Given the description of an element on the screen output the (x, y) to click on. 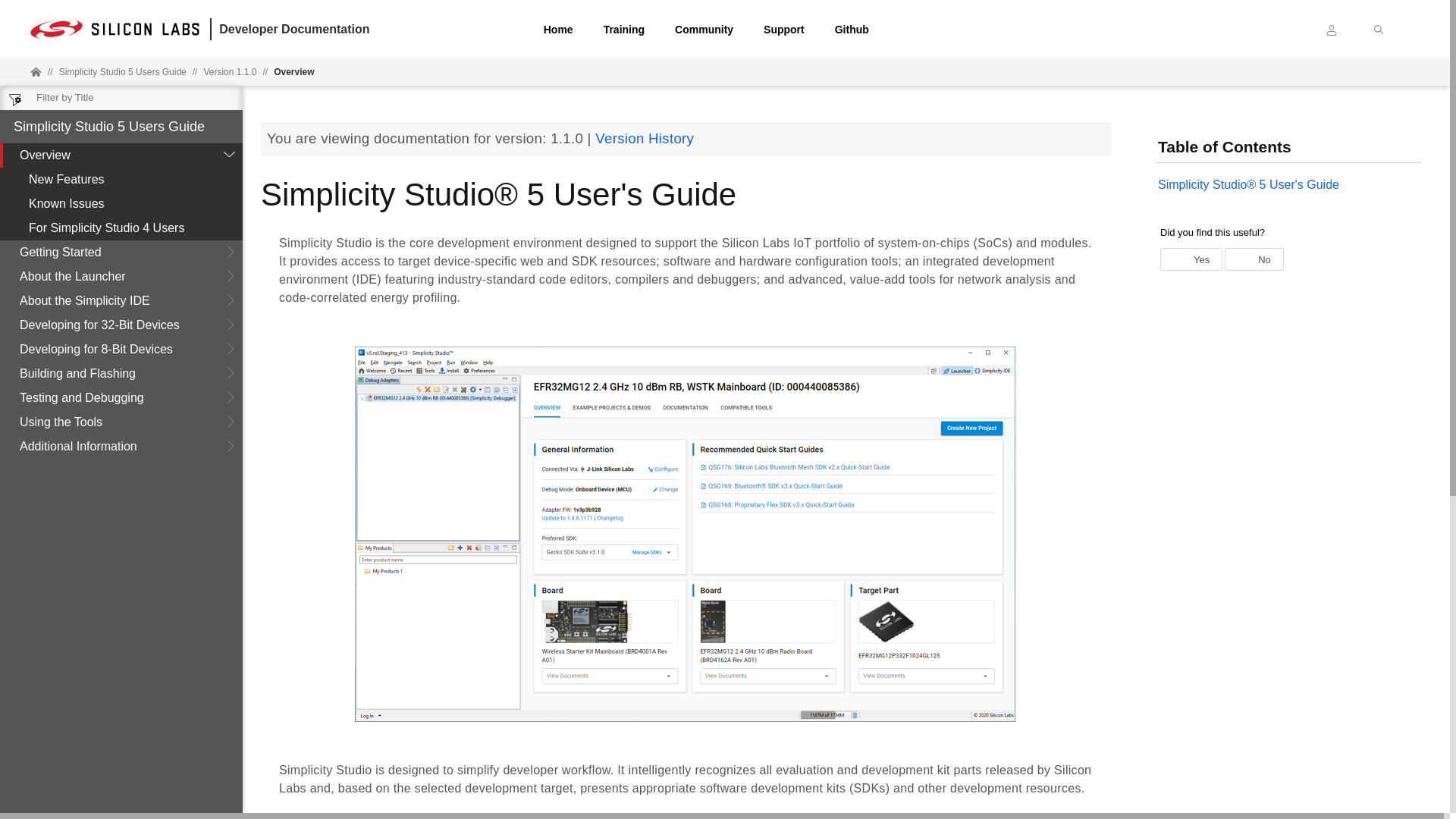
Version 1.1.0 (229, 71)
Github (851, 28)
Support (783, 28)
Training (624, 28)
About the Launcher (121, 276)
Testing and Debugging (121, 397)
New Features (121, 179)
Getting Started (121, 252)
Known Issues (121, 203)
Overview (293, 71)
Simplicity Studio 5 Users Guide (122, 71)
Building and Flashing (121, 373)
Version History (644, 138)
About the Simplicity IDE (121, 300)
Simplicity Studio 5 Users Guide (109, 126)
